Given the description of an element on the screen output the (x, y) to click on. 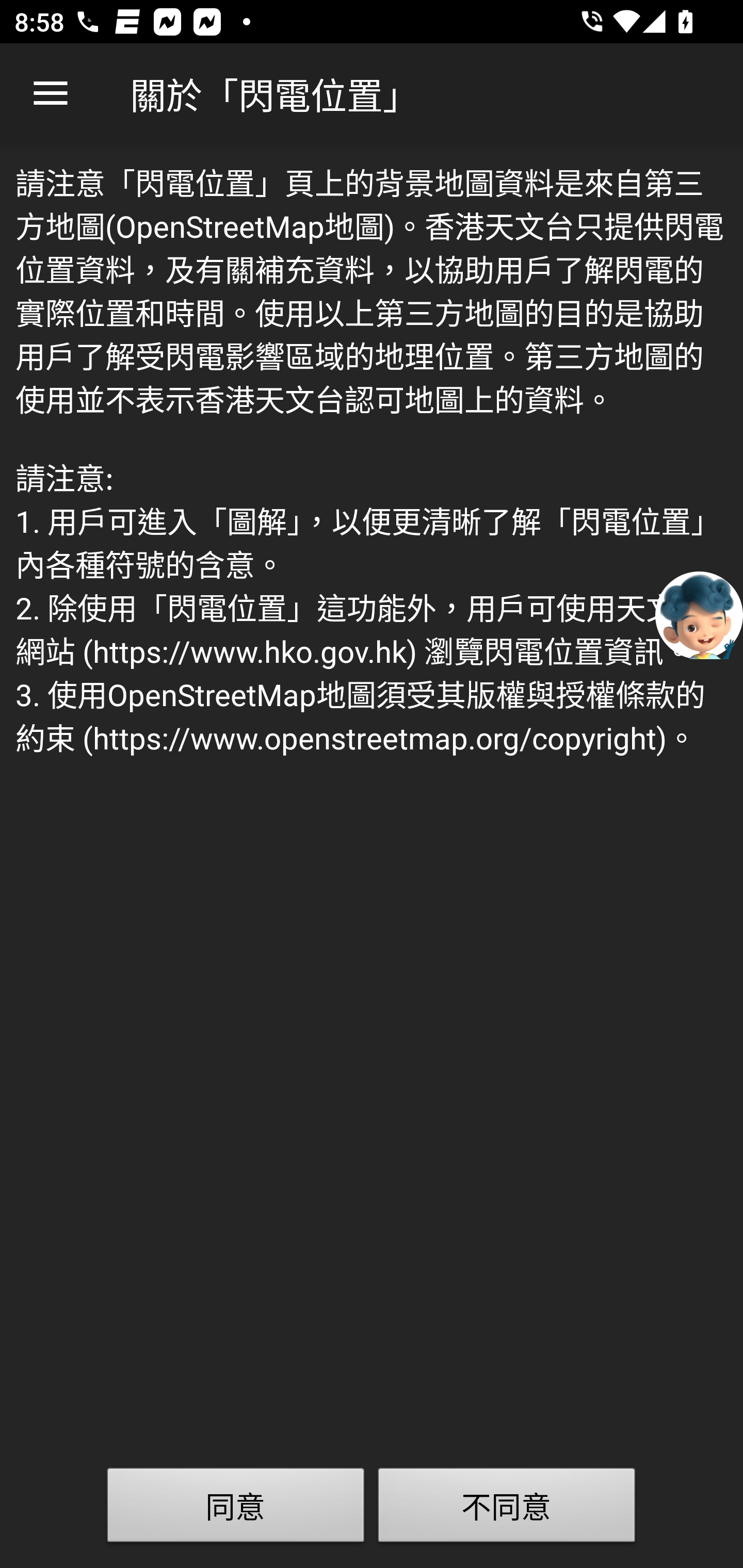
向上瀏覽 (50, 93)
聊天機械人 (699, 614)
同意 (235, 1509)
不同意 (506, 1509)
